Given the description of an element on the screen output the (x, y) to click on. 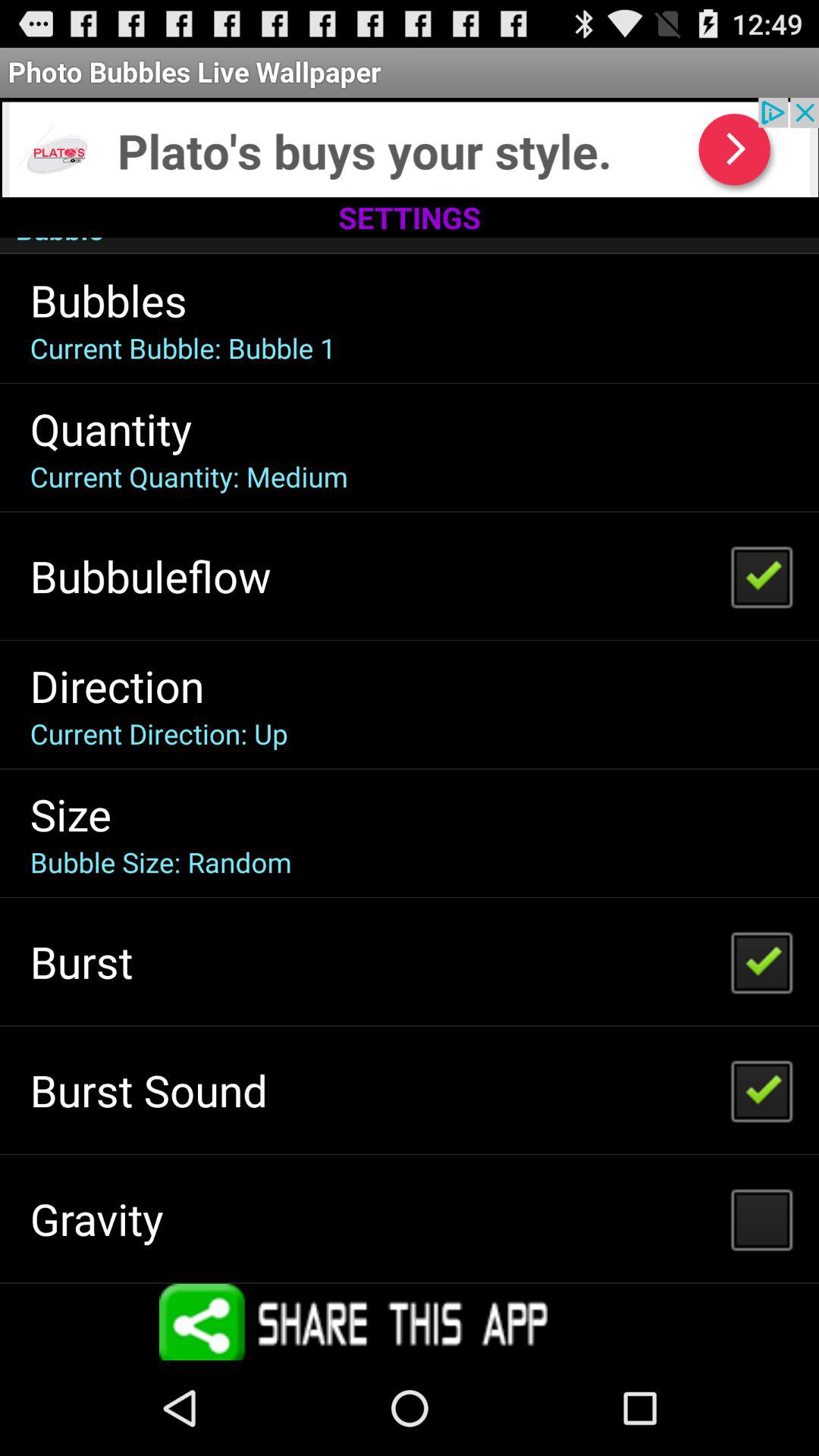
click on the checkbox right next to bubbuleflow (761, 576)
select the 1st check box above the share this app button on the web page (761, 1218)
